Given the description of an element on the screen output the (x, y) to click on. 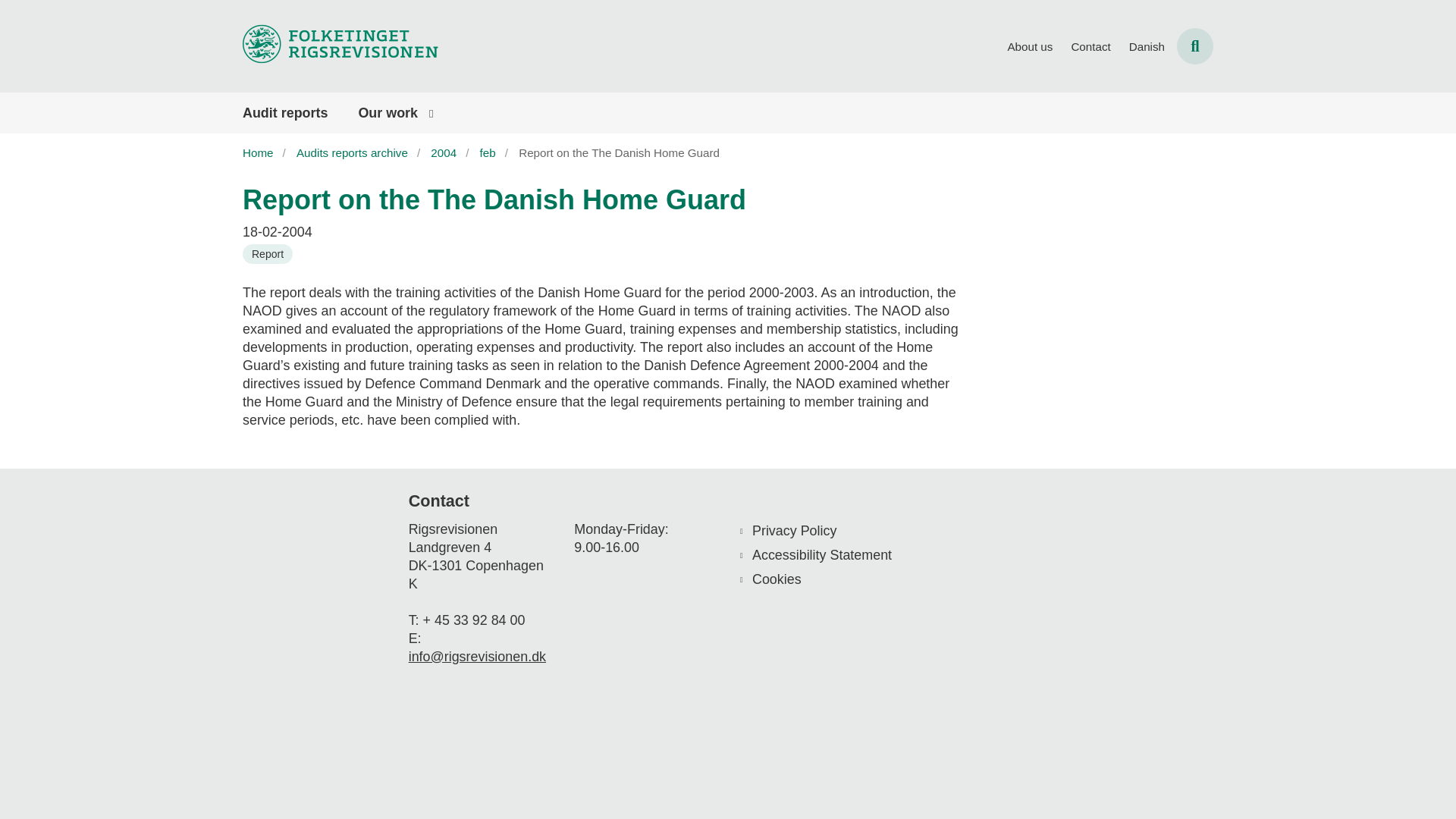
Audit reports (285, 112)
feb (494, 152)
About us (1029, 46)
Contact (1089, 46)
Audits reports archive (358, 152)
Privacy Policy (857, 530)
Danish (1146, 46)
Accessibility Statement (857, 555)
Home (264, 152)
Cookies (857, 579)
